Given the description of an element on the screen output the (x, y) to click on. 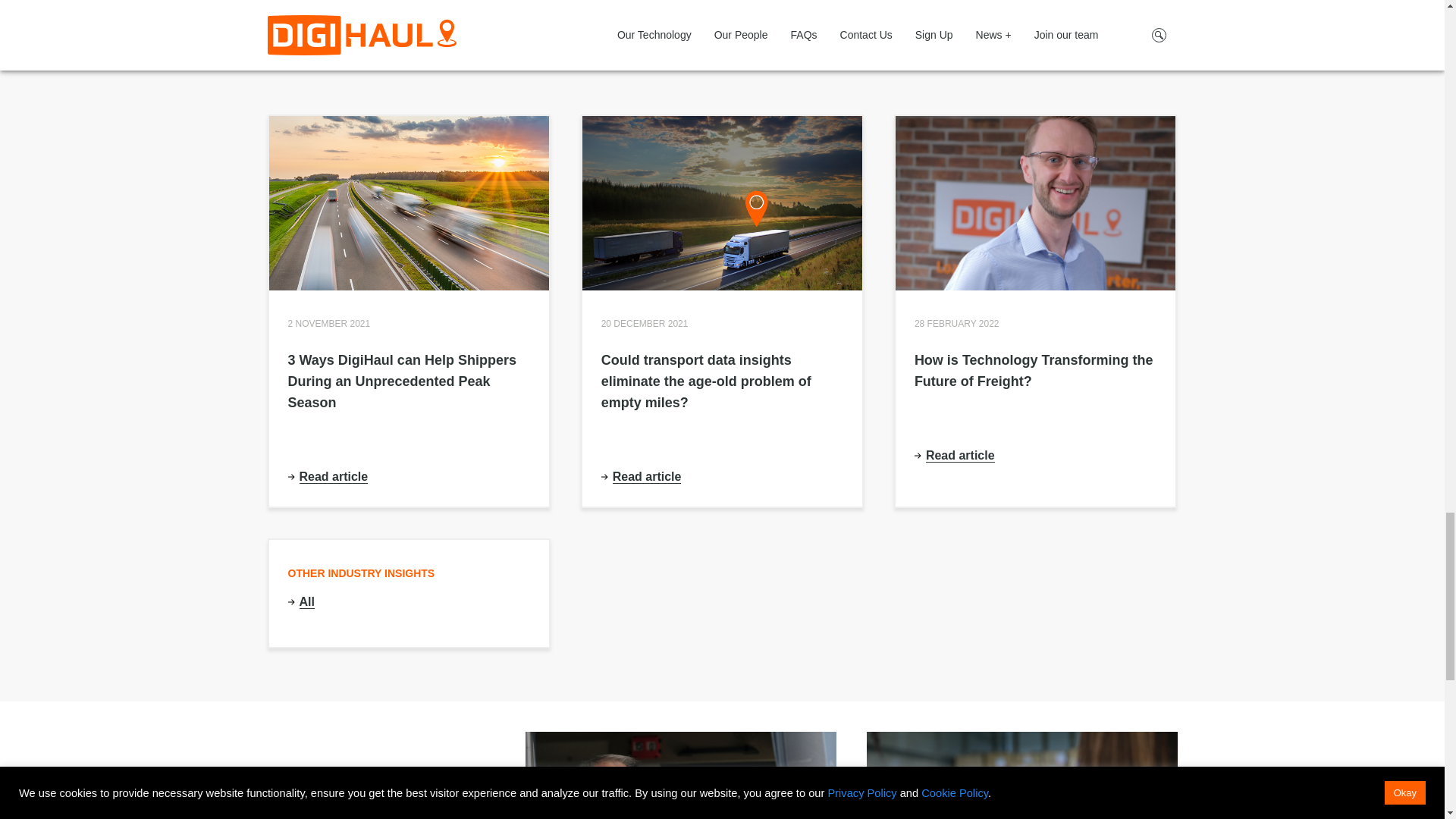
Read article (960, 455)
Read article (333, 477)
Read article (646, 477)
All (306, 602)
